Given the description of an element on the screen output the (x, y) to click on. 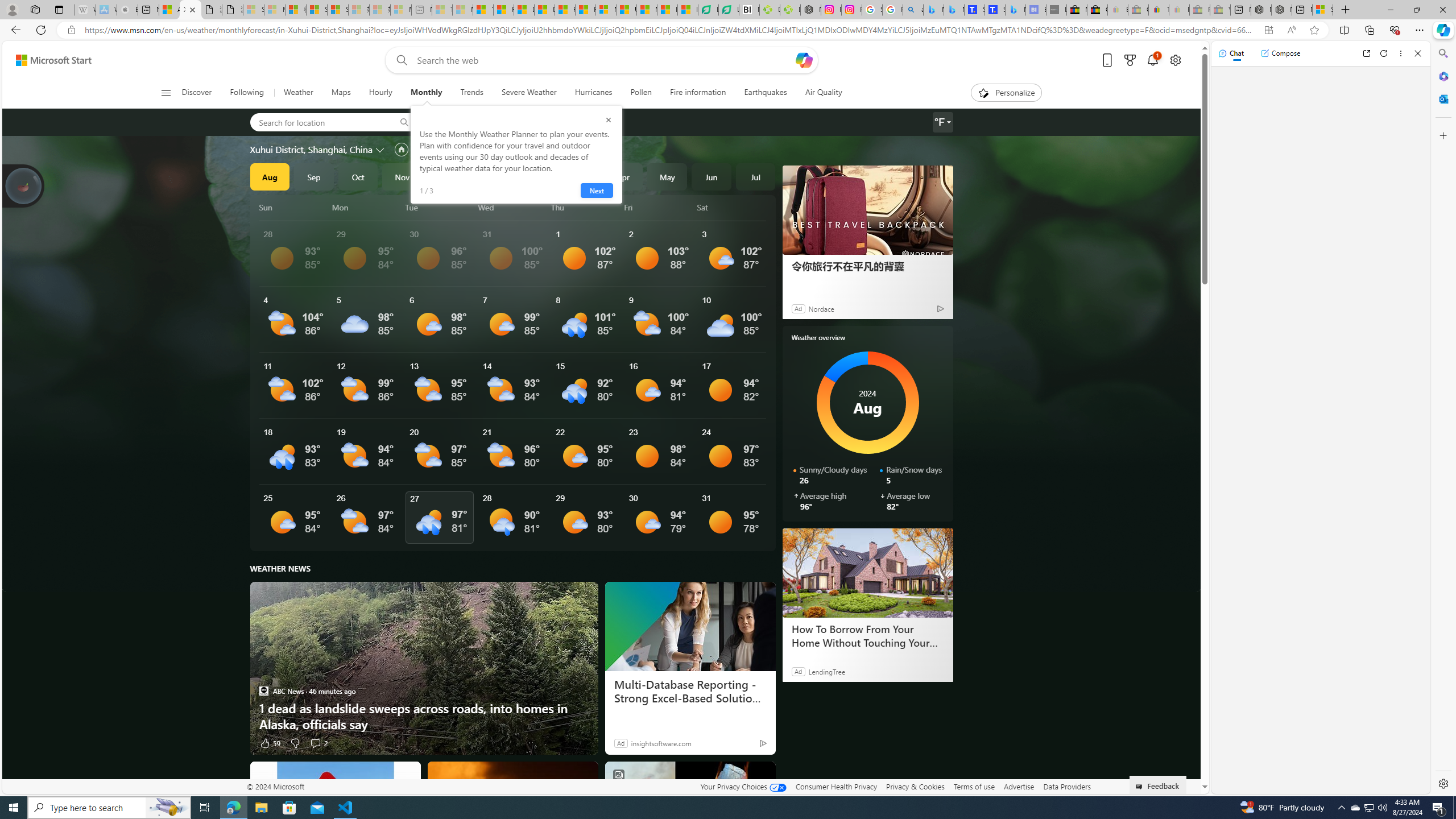
Search for location (318, 122)
Mar (578, 176)
Aug (268, 176)
Sat (732, 207)
Pollen (641, 92)
Top Stories - MSN - Sleeping (441, 9)
